Given the description of an element on the screen output the (x, y) to click on. 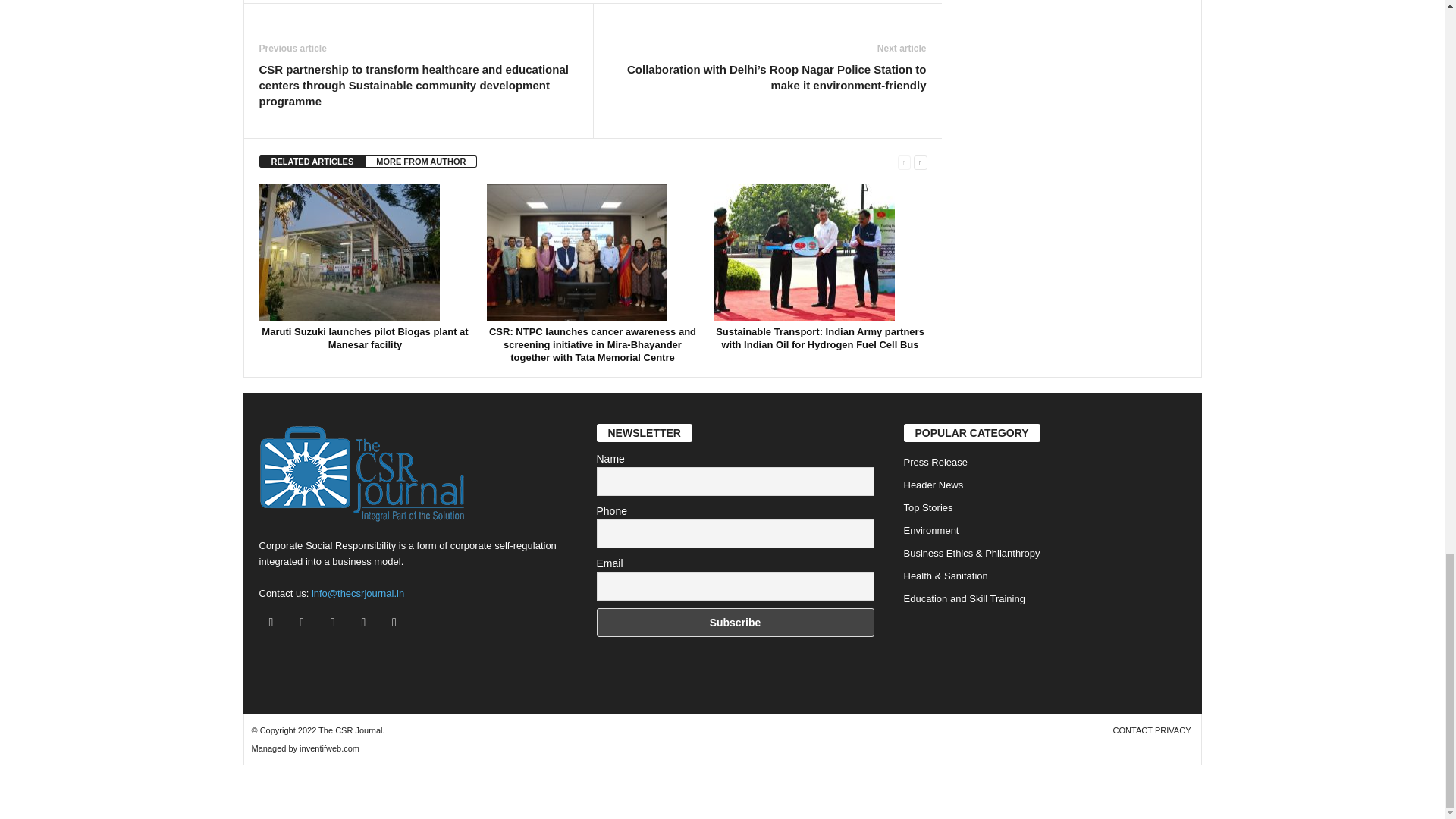
Subscribe (734, 622)
